Given the description of an element on the screen output the (x, y) to click on. 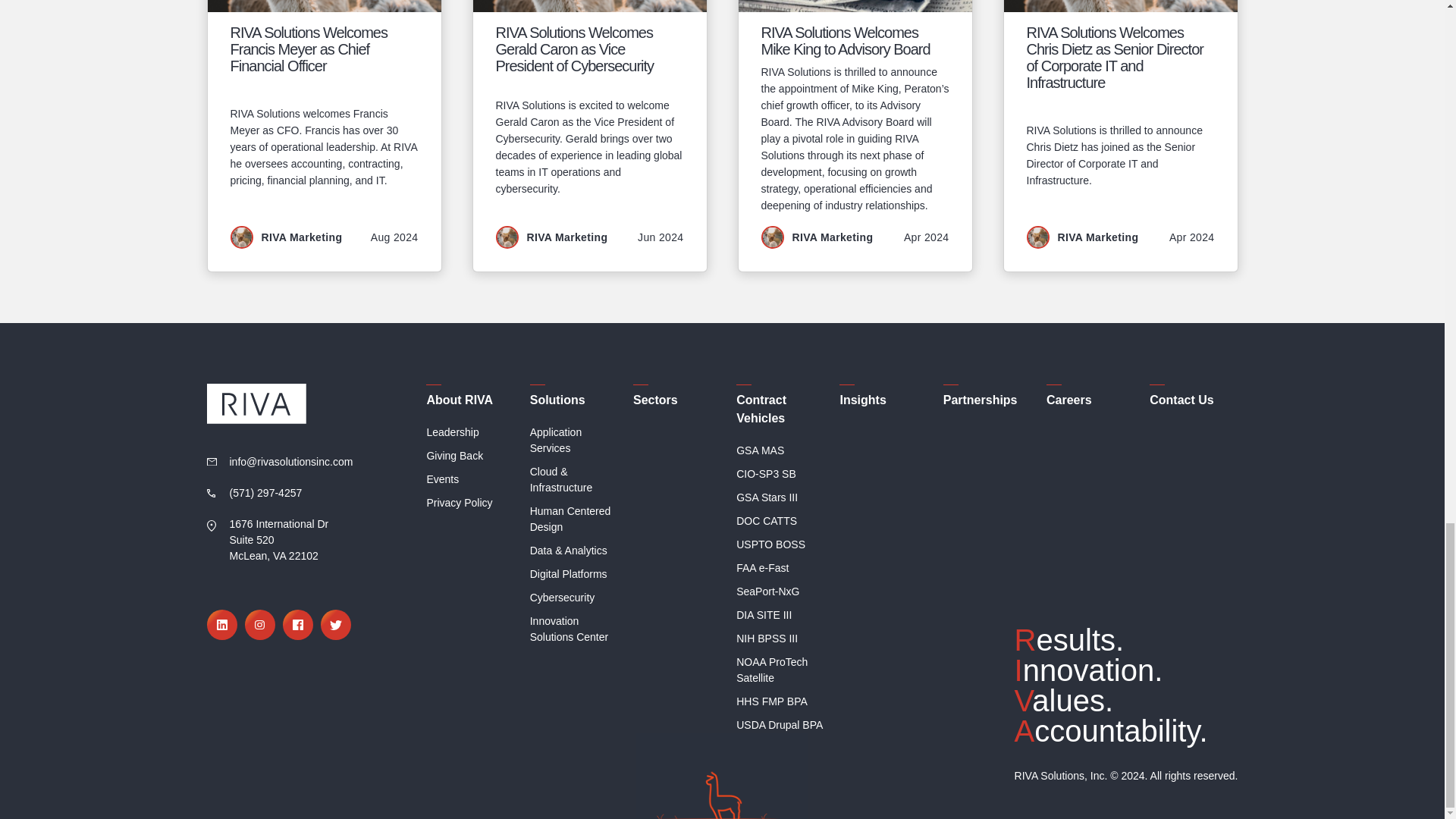
facebook (297, 624)
twitter (335, 624)
instagram (259, 624)
linkedin (220, 624)
